Given the description of an element on the screen output the (x, y) to click on. 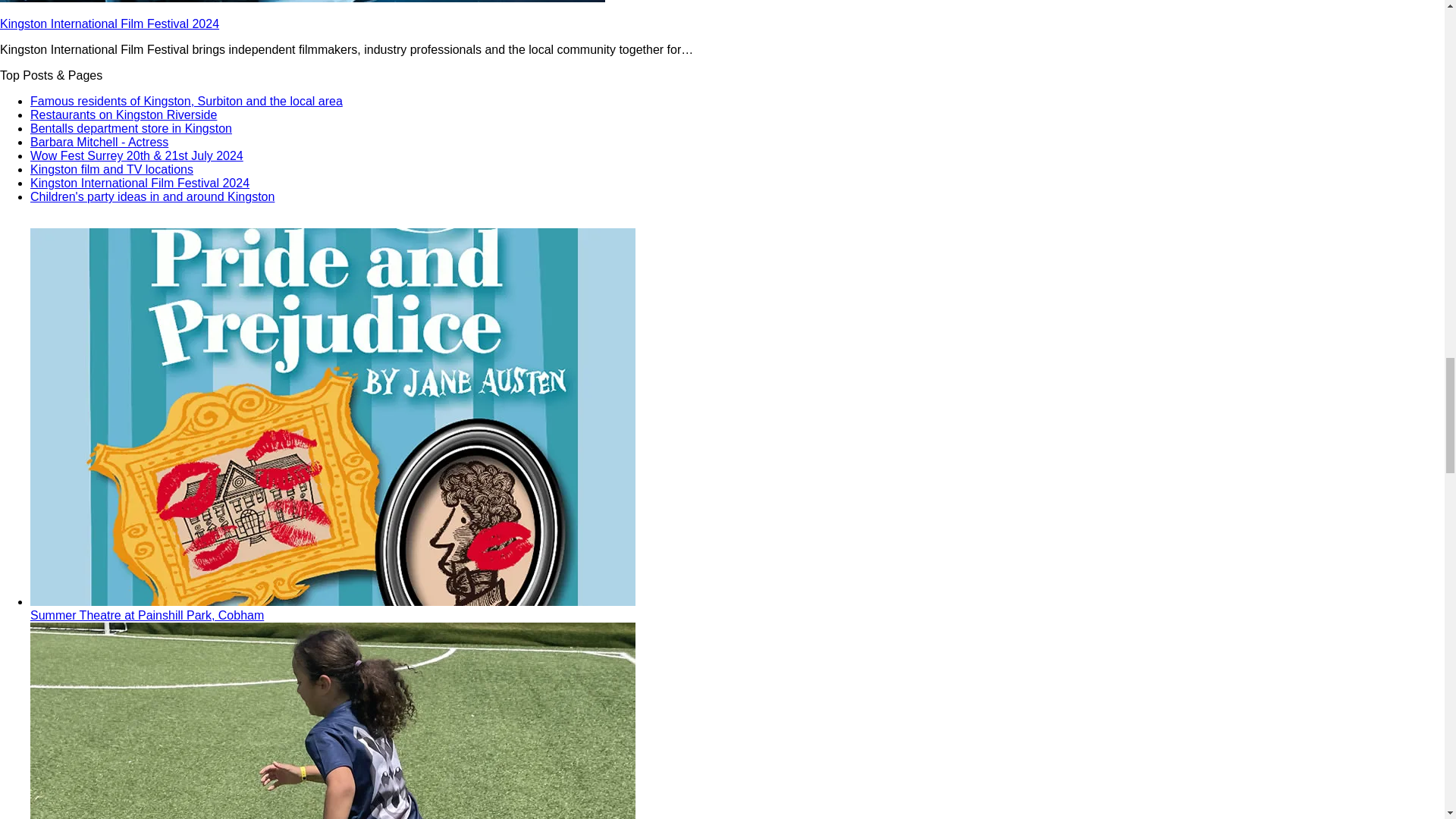
Famous residents of Kingston, Surbiton and the local area (186, 101)
Barbara Mitchell - Actress (99, 141)
Bentalls department store in Kingston (130, 128)
Restaurants on Kingston Riverside (123, 114)
Kingston International Film Festival 2024 (109, 23)
